Given the description of an element on the screen output the (x, y) to click on. 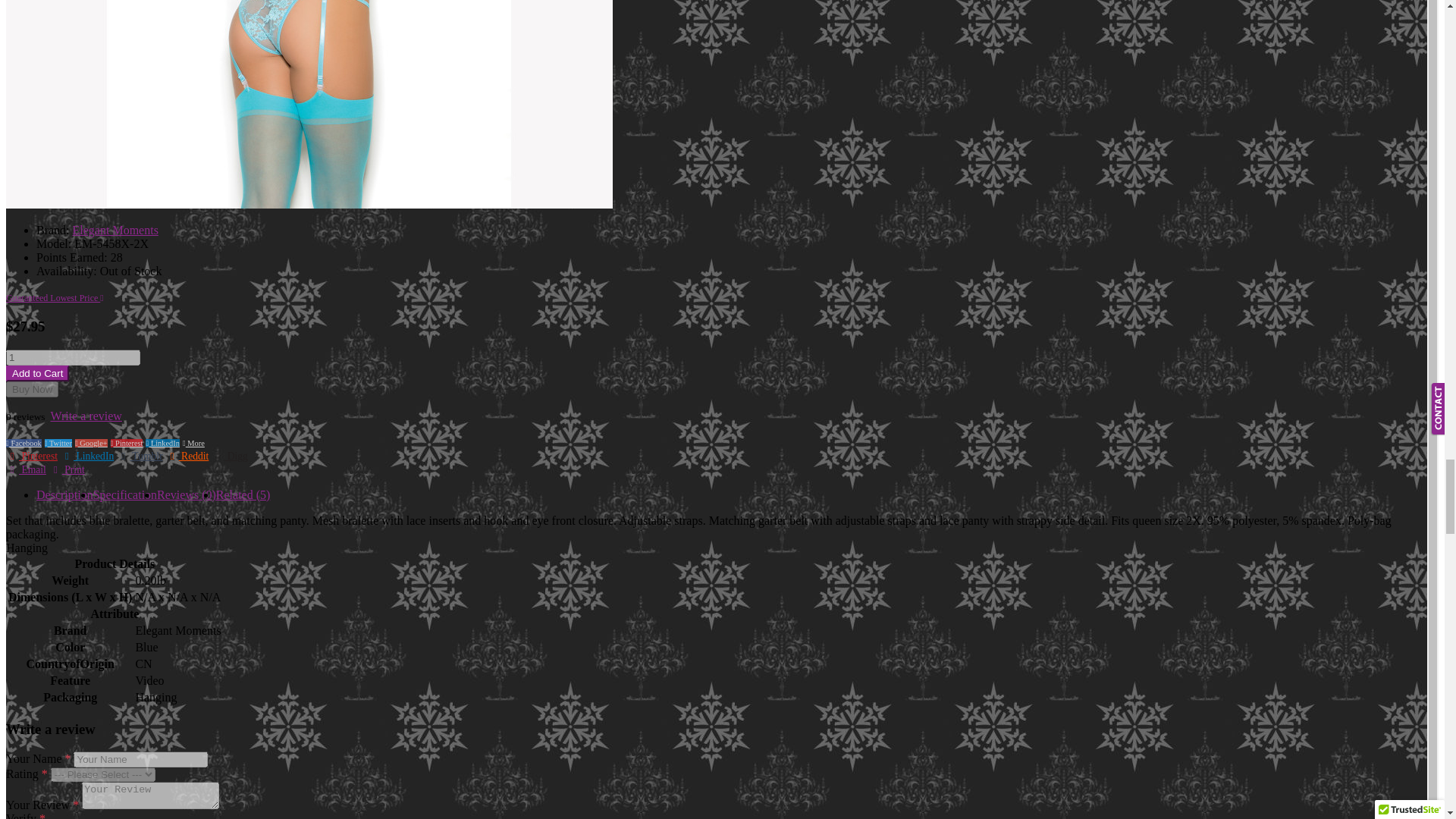
Points Price: 2800 (80, 256)
1 (72, 357)
